Given the description of an element on the screen output the (x, y) to click on. 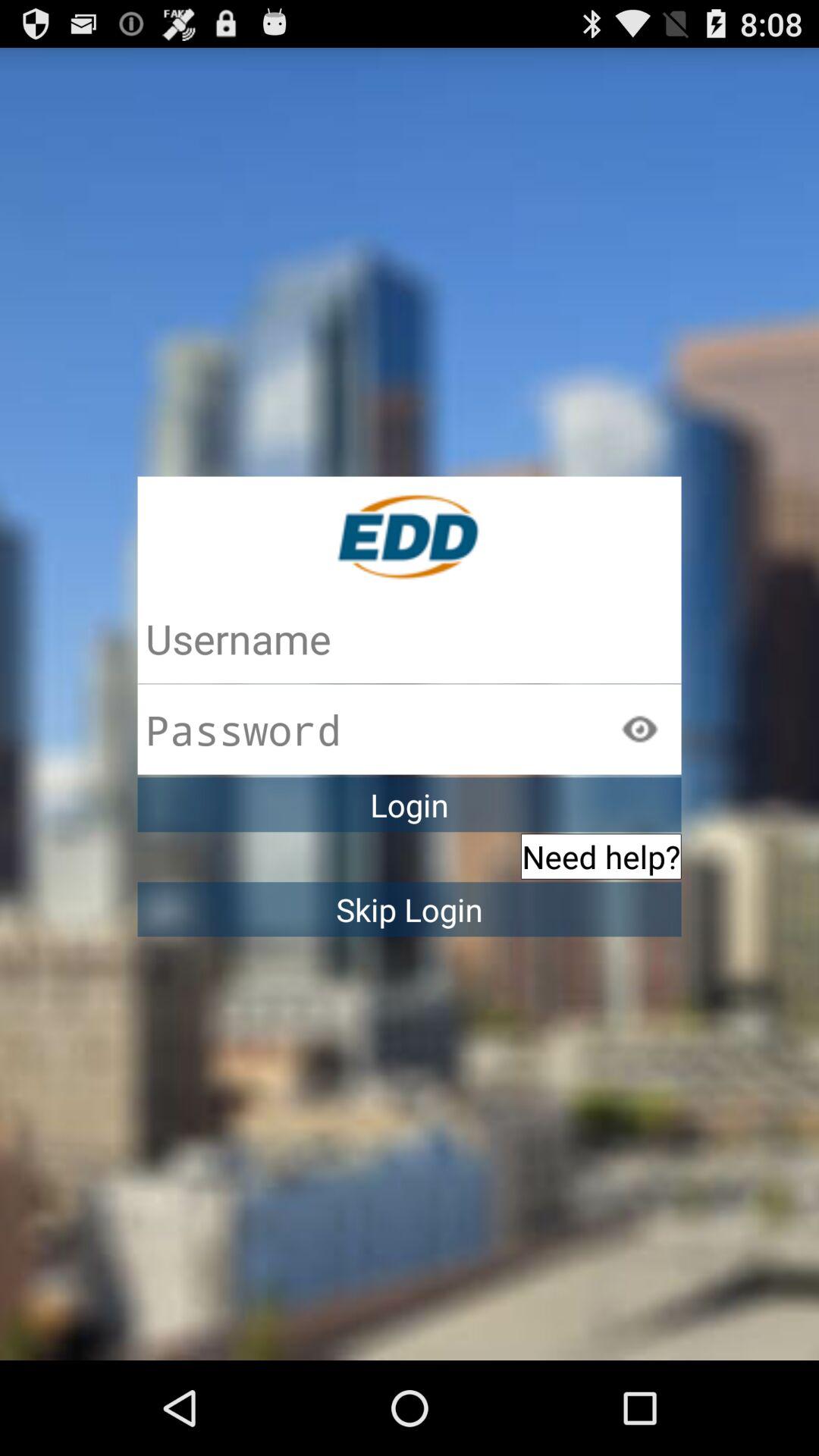
turn on skip login icon (409, 909)
